Given the description of an element on the screen output the (x, y) to click on. 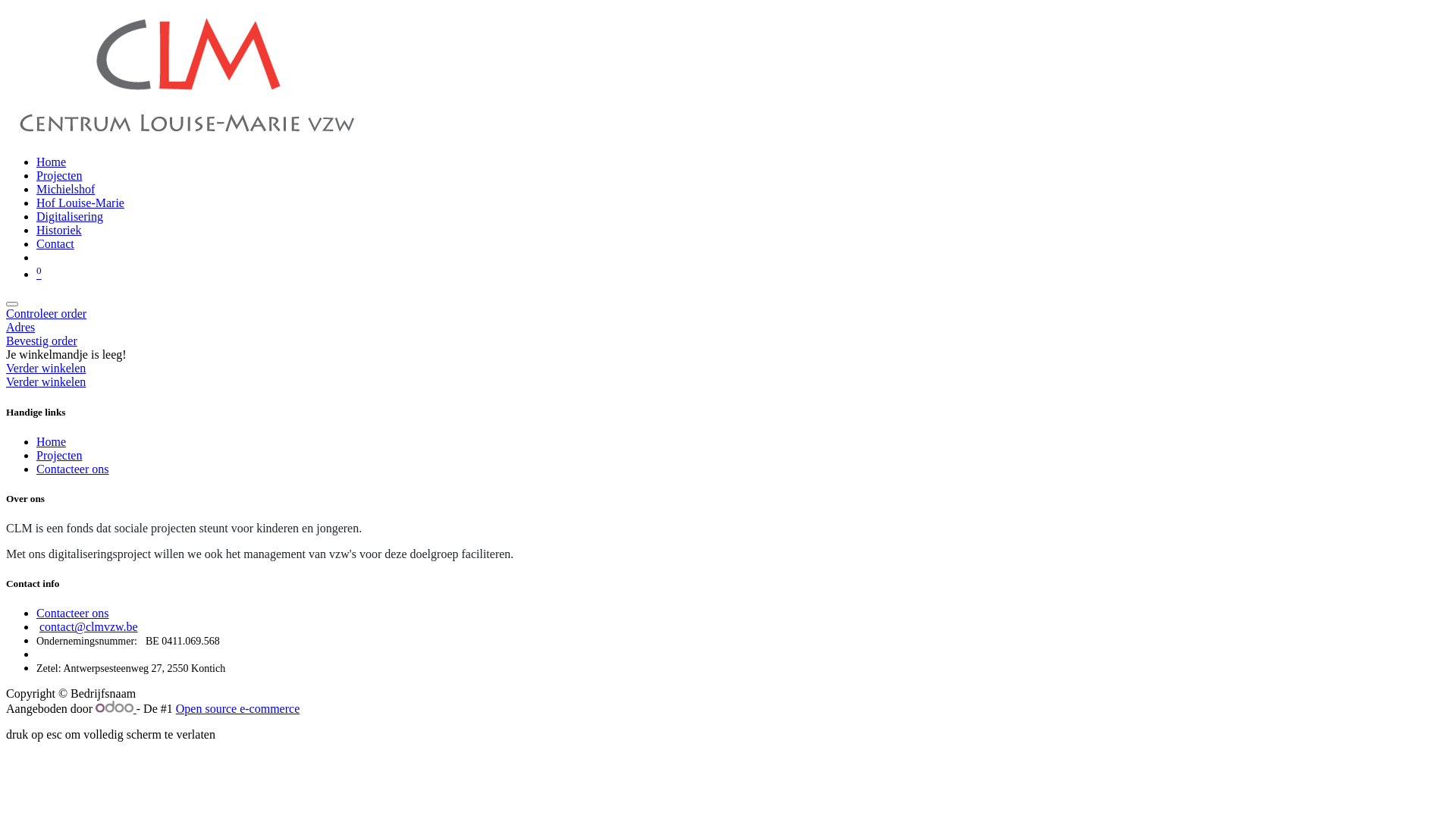
Historiek Element type: text (58, 229)
Michielshof Element type: text (65, 188)
0 Element type: text (38, 273)
Home Element type: text (50, 441)
Projecten Element type: text (58, 454)
Controleer order Element type: text (727, 313)
Home Element type: text (50, 161)
Verder winkelen Element type: text (45, 367)
Centrum Louise-Marie vzw Element type: hover (184, 135)
Open source e-commerce Element type: text (237, 708)
Contacteer ons Element type: text (72, 468)
Adres Element type: text (727, 327)
Contact Element type: text (55, 243)
Hof Louise-Marie Element type: text (80, 202)
Contacteer ons Element type: text (72, 612)
Projecten Element type: text (58, 175)
contact@clmvzw.be Element type: text (88, 626)
Verder winkelen Element type: text (45, 381)
Digitalisering Element type: text (69, 216)
Bevestig order Element type: text (727, 341)
